Given the description of an element on the screen output the (x, y) to click on. 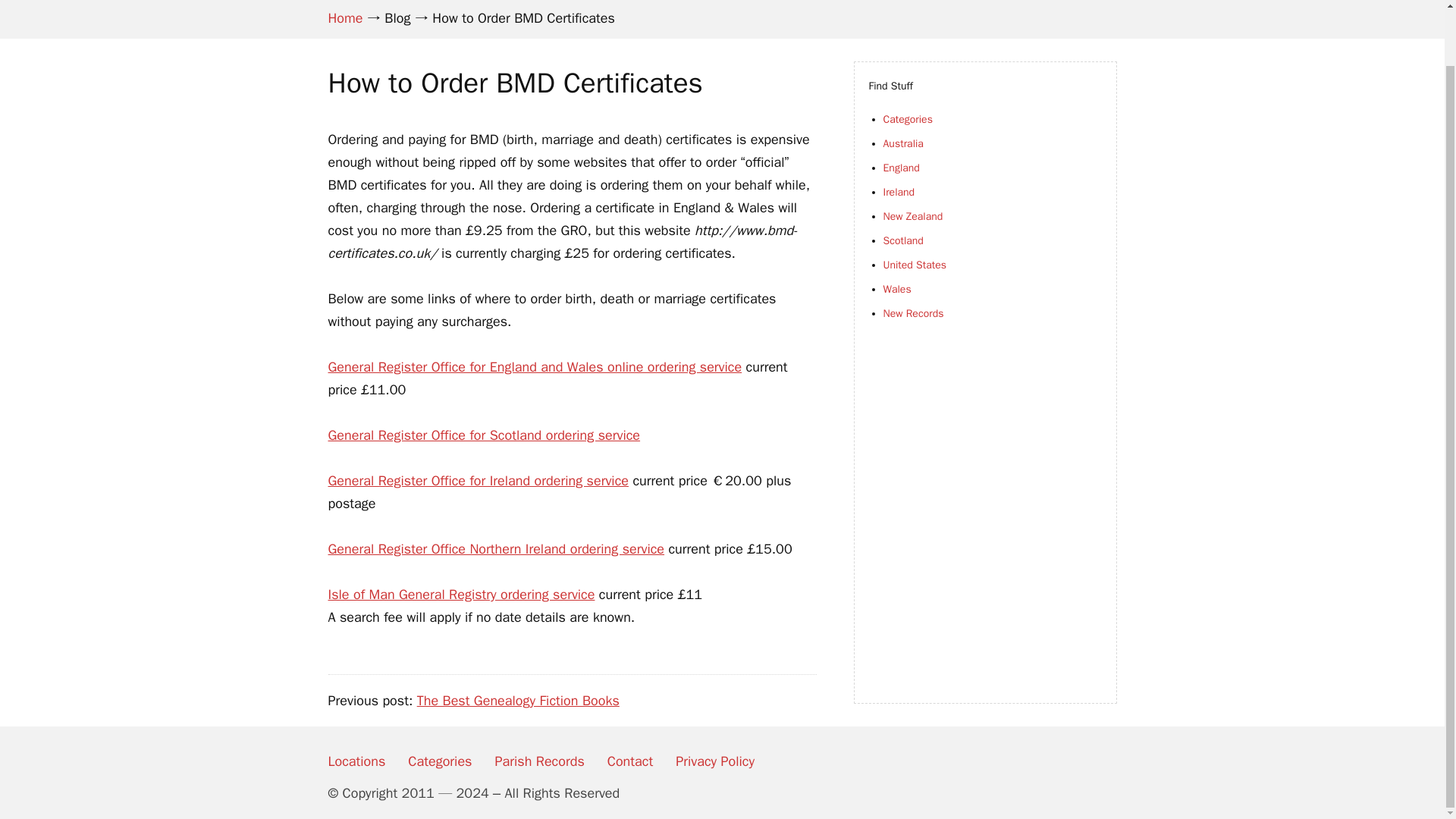
Scotland (902, 240)
Categories (439, 761)
General Register Office for Ireland ordering service (477, 480)
Contact (629, 761)
Ireland (898, 192)
Isle of Man General Registry ordering service (460, 594)
Parish Records (539, 761)
Locations (356, 761)
General Register Office Northern Ireland ordering service (495, 548)
